Given the description of an element on the screen output the (x, y) to click on. 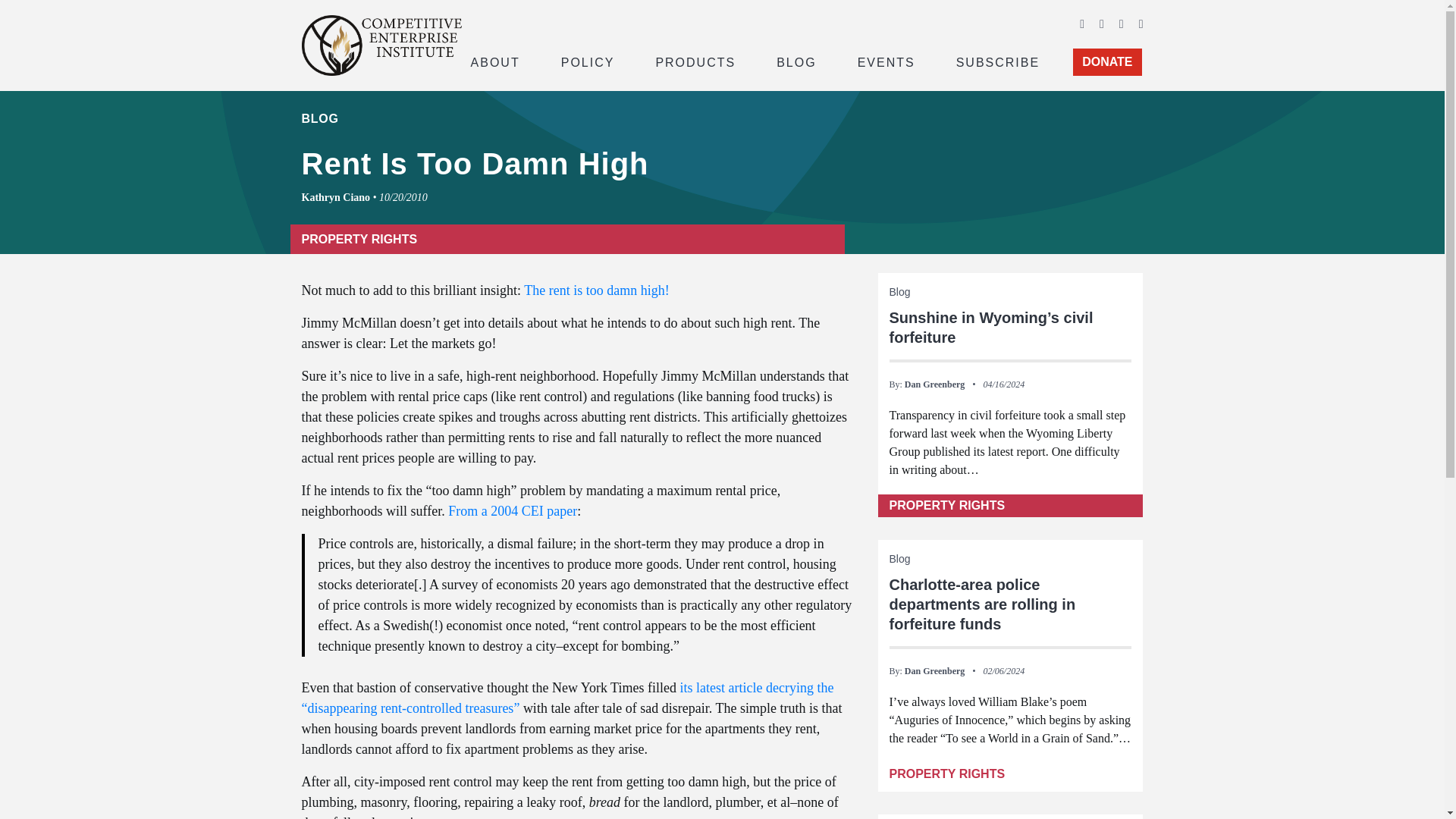
SUBSCRIBE (997, 61)
ABOUT (495, 61)
POLICY (588, 61)
EVENTS (886, 61)
DONATE (1107, 62)
PRODUCTS (694, 61)
BLOG (796, 61)
